Given the description of an element on the screen output the (x, y) to click on. 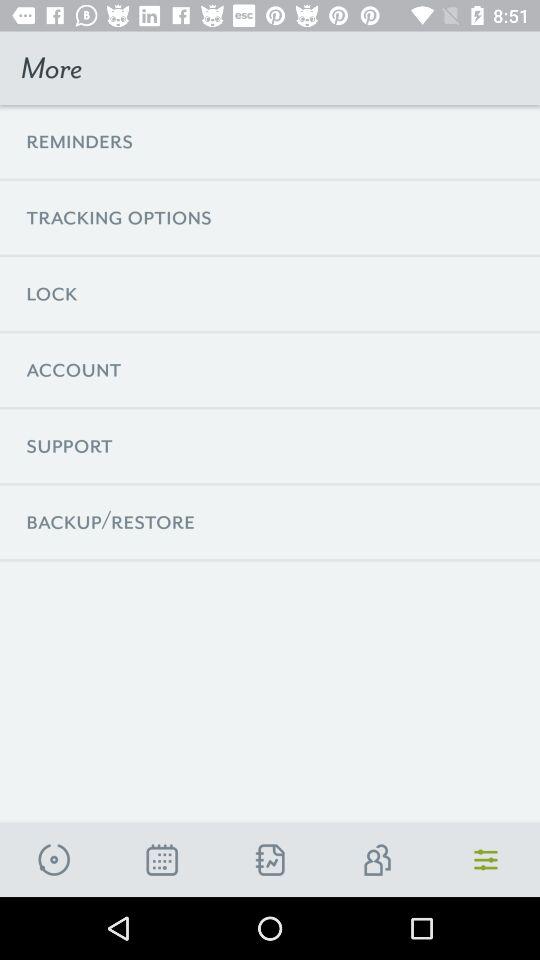
toggle to friends list (378, 860)
